Given the description of an element on the screen output the (x, y) to click on. 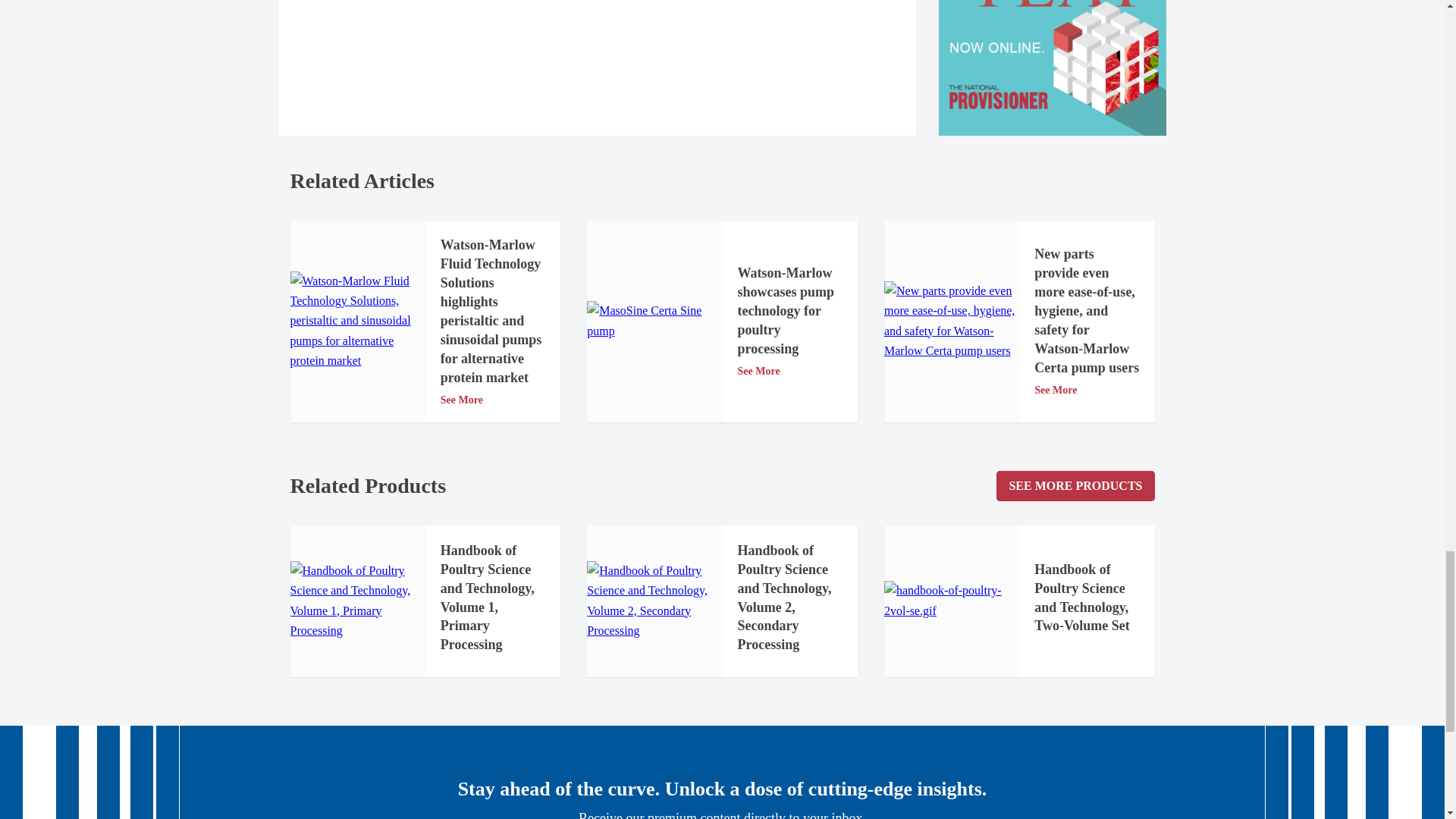
handbook-of-poultry-2vol-se.gif (951, 600)
MasoSine Certa Sine pump (654, 321)
